Given the description of an element on the screen output the (x, y) to click on. 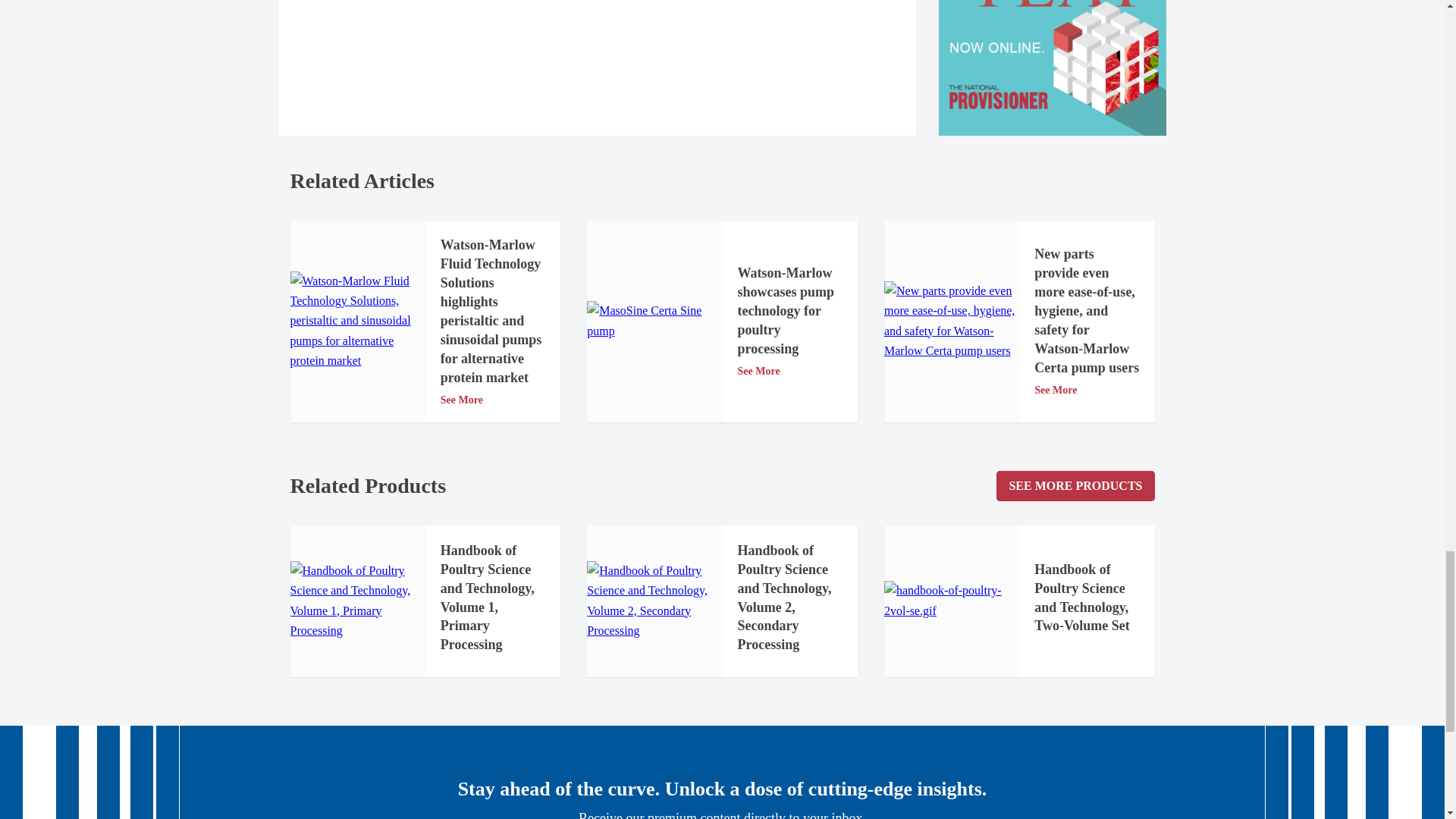
handbook-of-poultry-2vol-se.gif (951, 600)
MasoSine Certa Sine pump (654, 321)
